Given the description of an element on the screen output the (x, y) to click on. 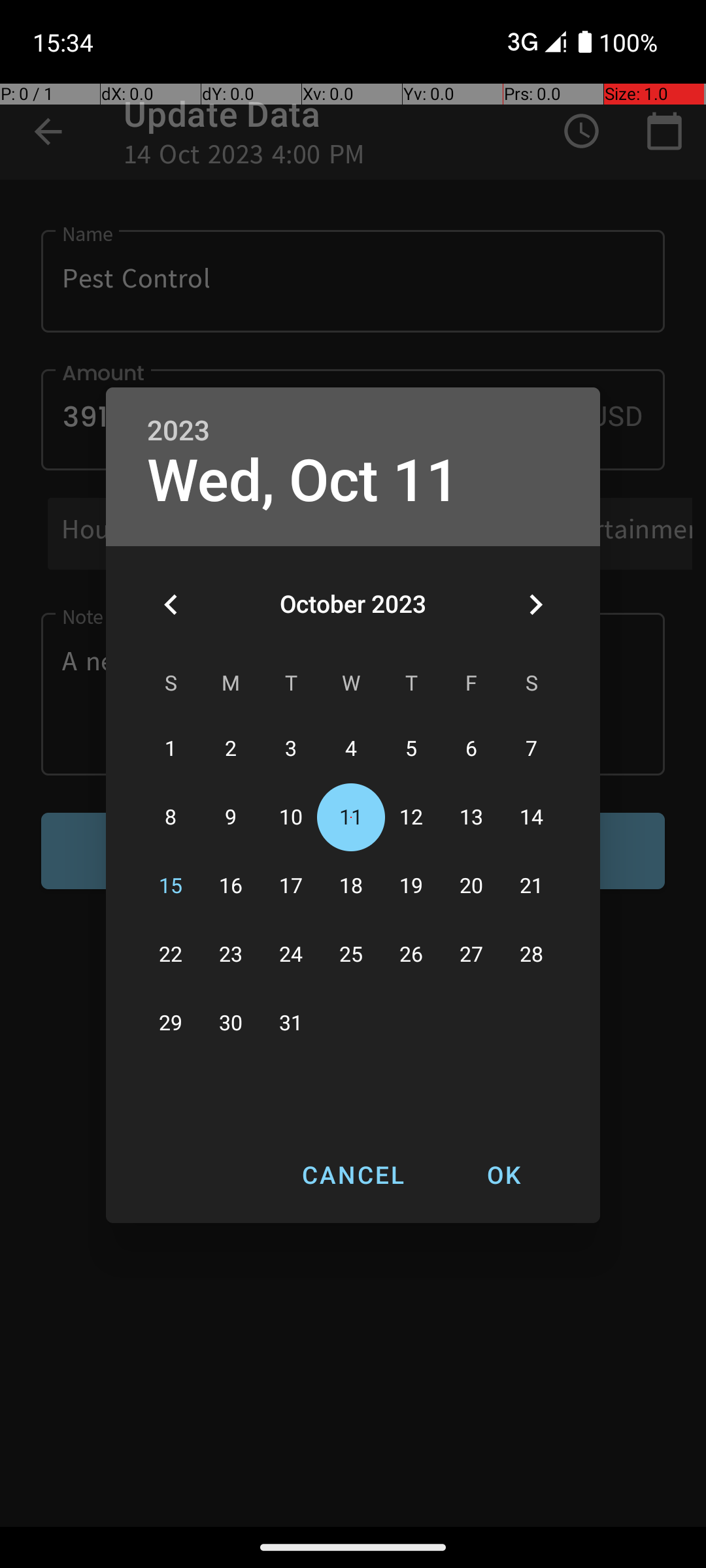
Wed, Oct 11 Element type: android.widget.TextView (303, 480)
